Given the description of an element on the screen output the (x, y) to click on. 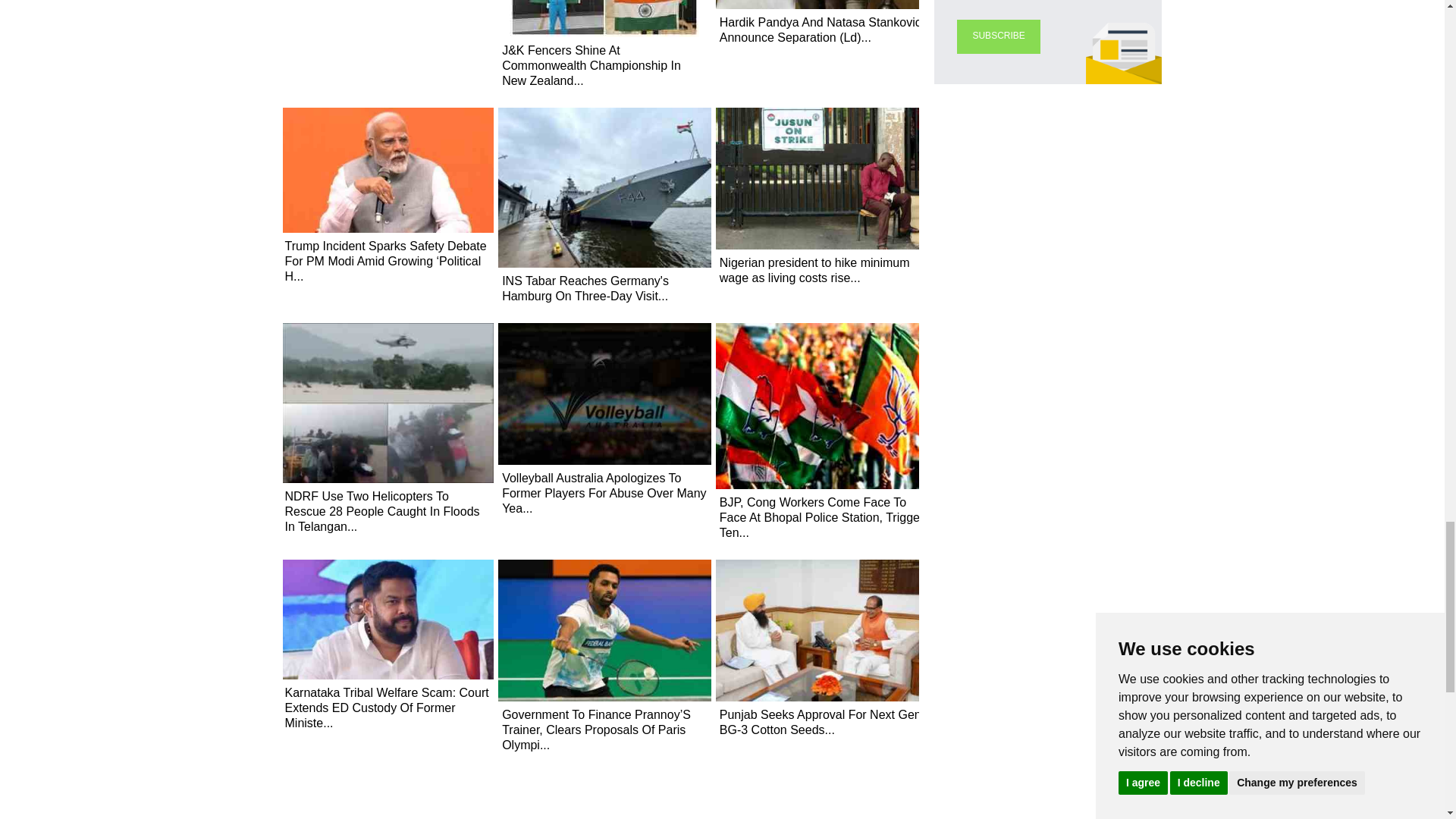
Subscribe (997, 36)
